Given the description of an element on the screen output the (x, y) to click on. 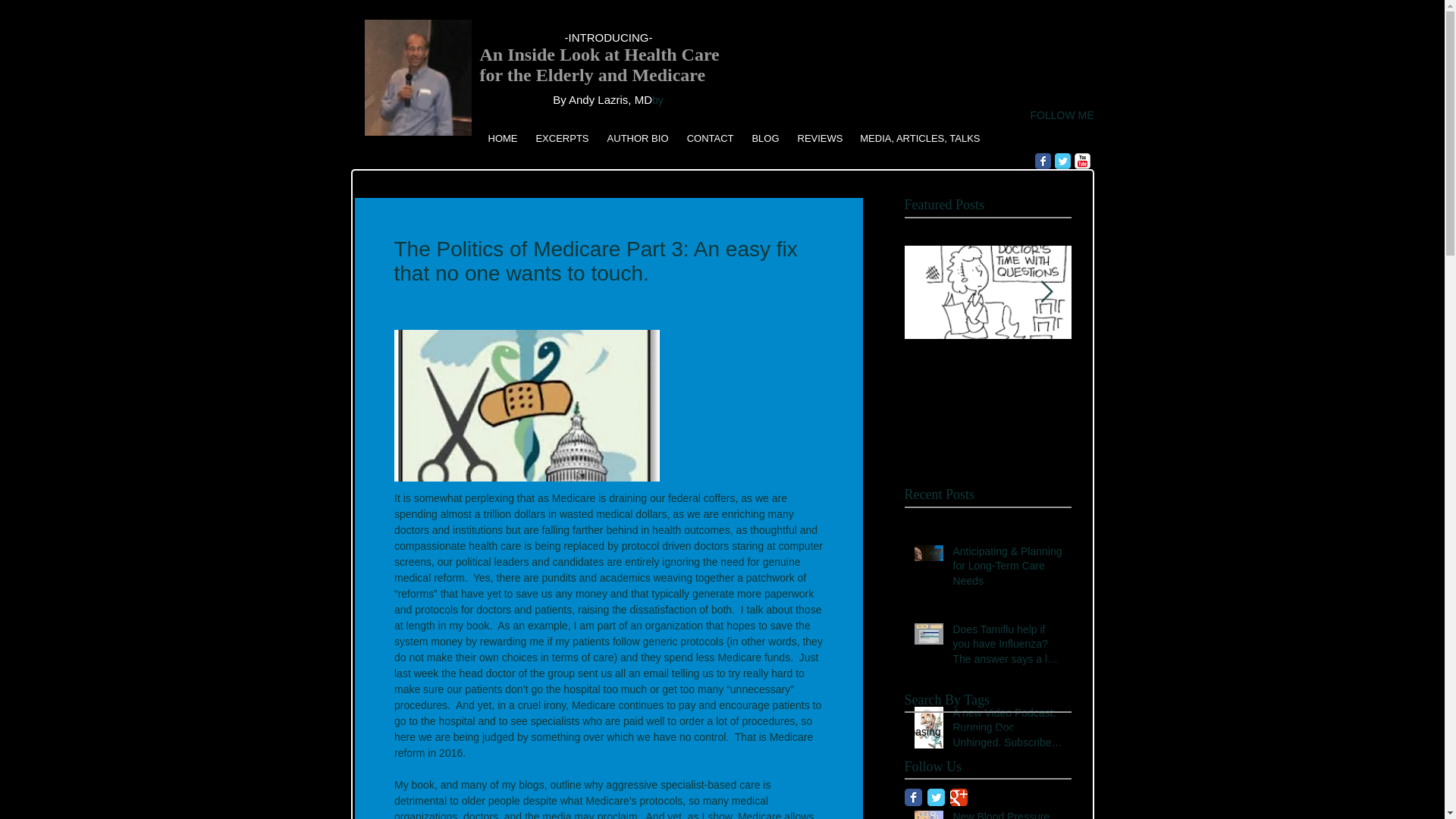
HOME (501, 138)
MEDIA, ARTICLES, TALKS (919, 138)
chasing numbers (944, 731)
A new Video Podcast: Running Doc Unhinged. Subscribe Today! (1006, 730)
CONTACT (709, 138)
AUTHOR BIO (636, 138)
Untitled 2.jpg (417, 77)
photo (1007, 731)
A Novel Way to Present Health Information (1153, 387)
EXCERPTS (560, 138)
